Given the description of an element on the screen output the (x, y) to click on. 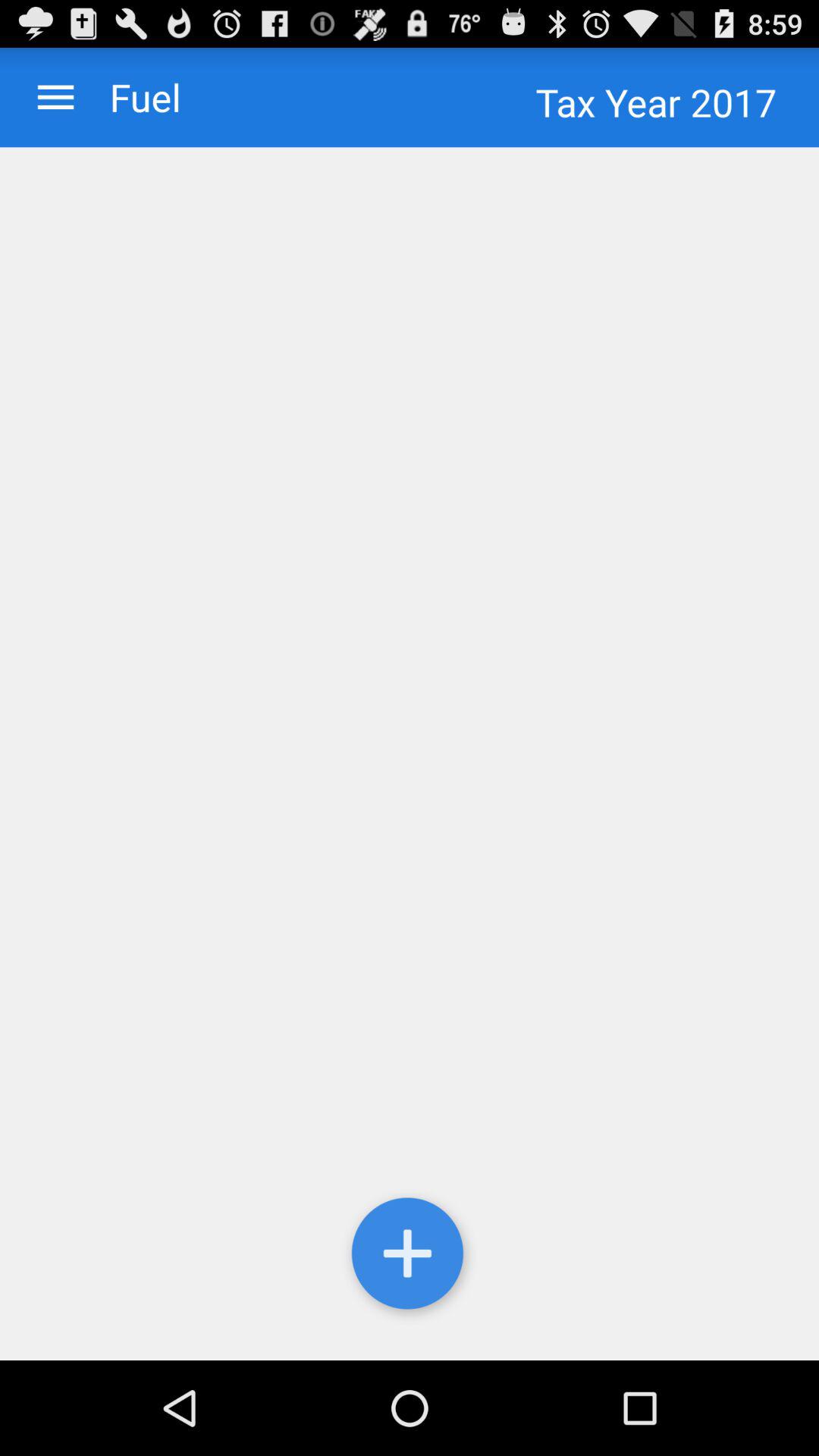
swipe to fuel icon (129, 96)
